Given the description of an element on the screen output the (x, y) to click on. 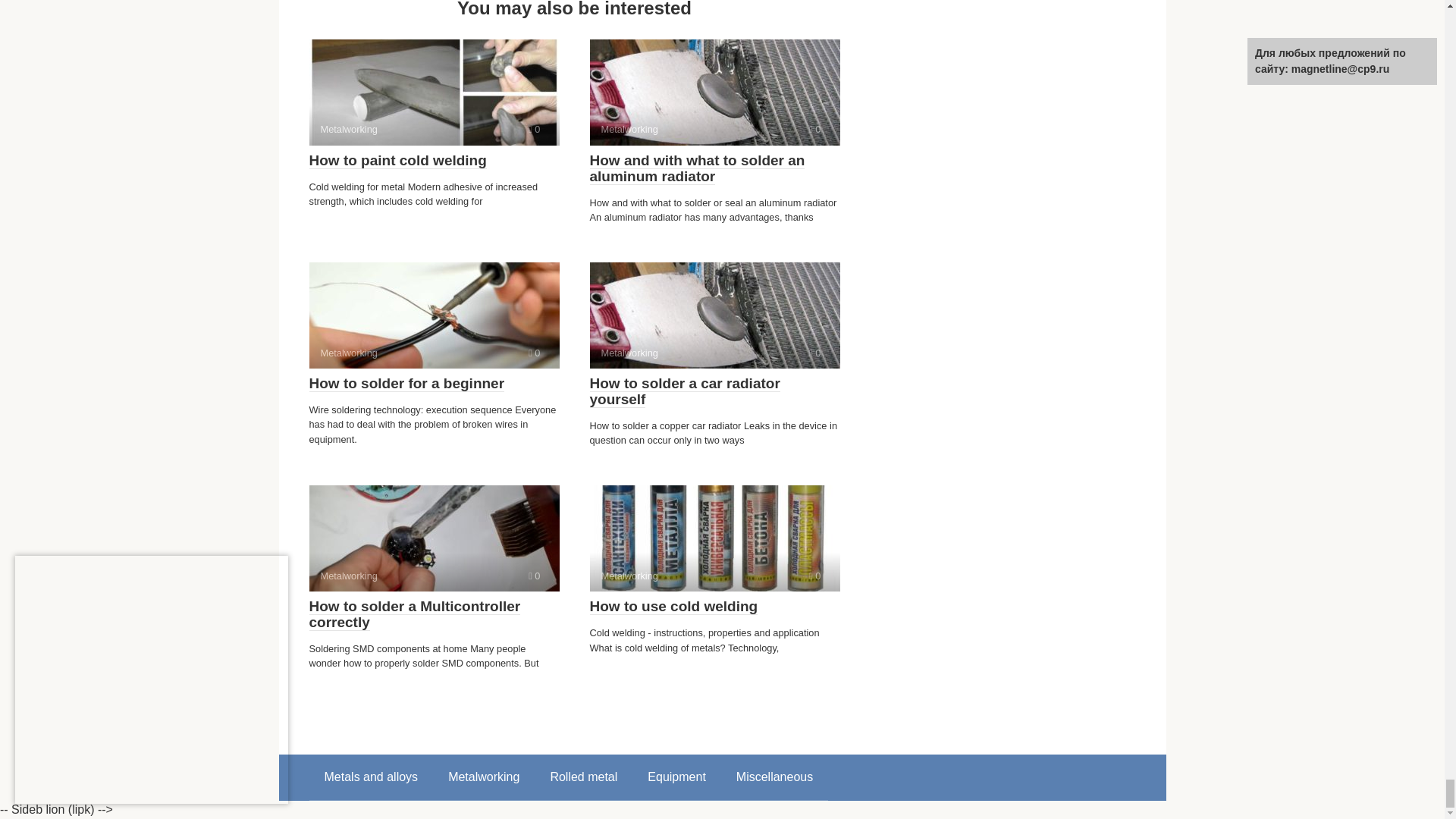
Comments (433, 315)
Comments (815, 575)
Comments (815, 129)
Metals and alloys (534, 129)
How to solder for a beginner (433, 538)
How and with what to solder an aluminum radiator (370, 777)
Comments (406, 383)
How to solder a car radiator yourself (714, 315)
How to solder a Multicontroller correctly (697, 168)
Comments (714, 538)
How to use cold welding (534, 352)
